Given the description of an element on the screen output the (x, y) to click on. 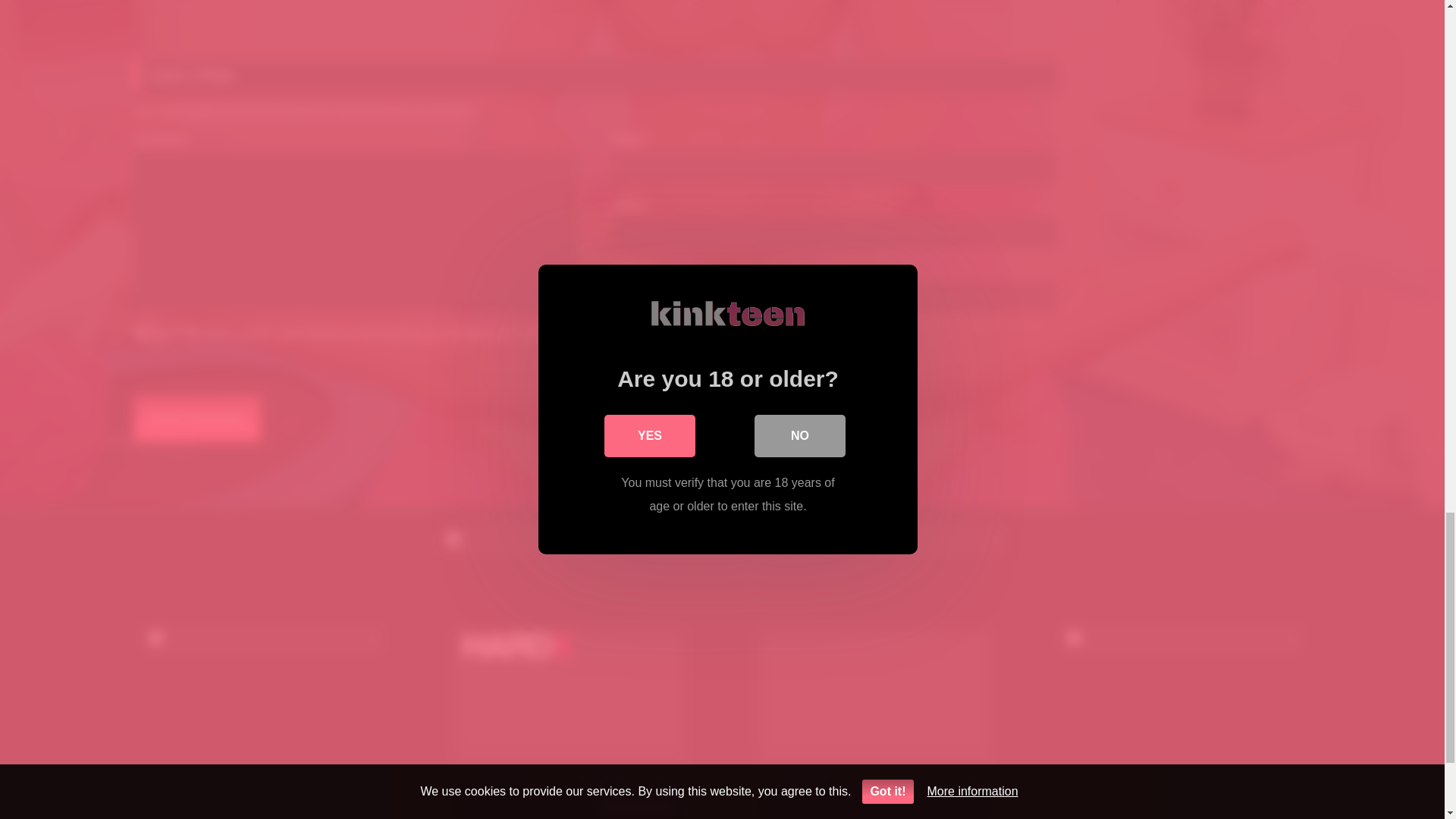
yes (141, 334)
Post Comment (196, 418)
